Given the description of an element on the screen output the (x, y) to click on. 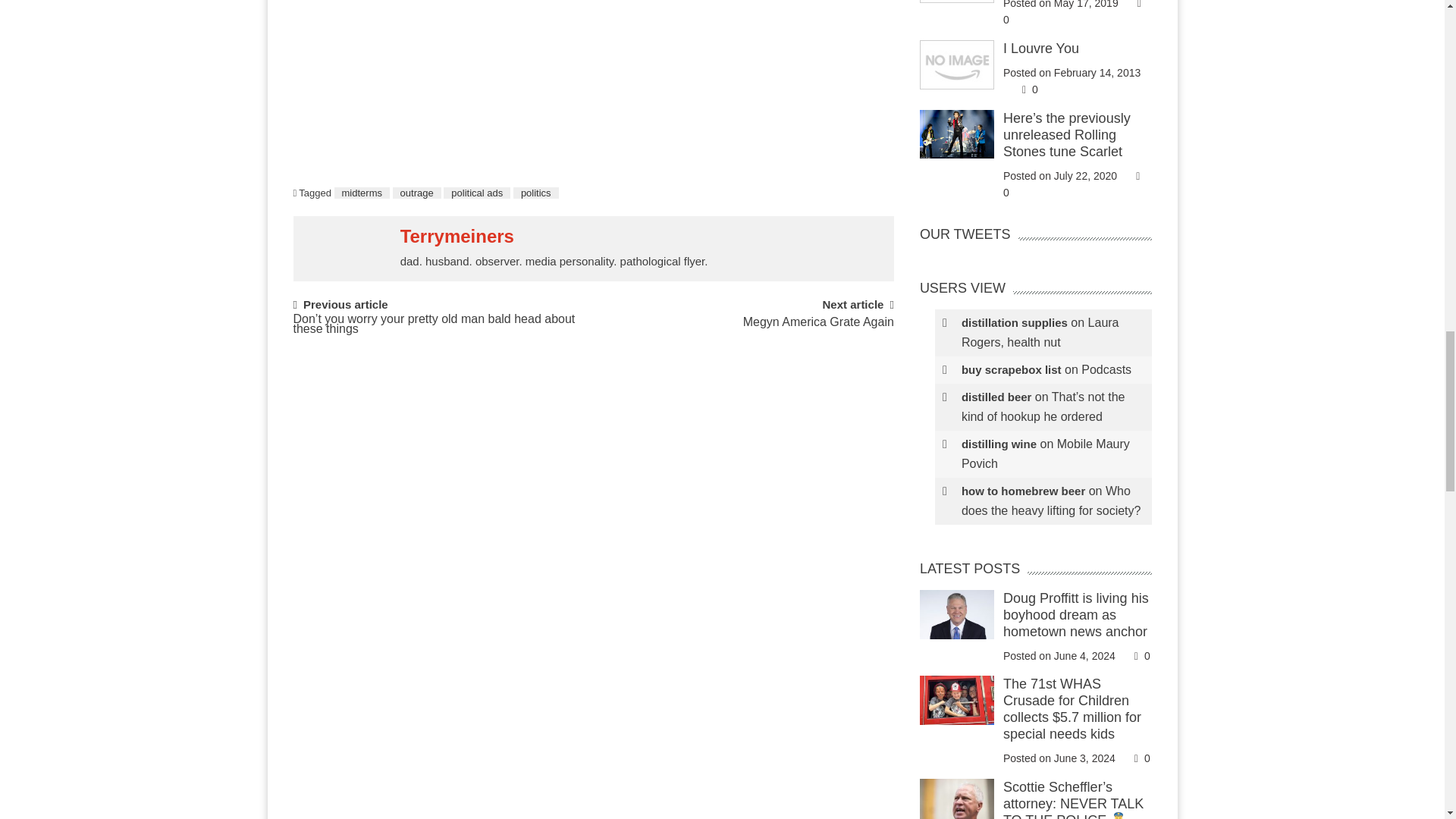
political ads (477, 193)
politics (536, 193)
outrage (417, 193)
midterms (362, 193)
Megyn America Grate Again (817, 329)
Terrymeiners (456, 236)
